Given the description of an element on the screen output the (x, y) to click on. 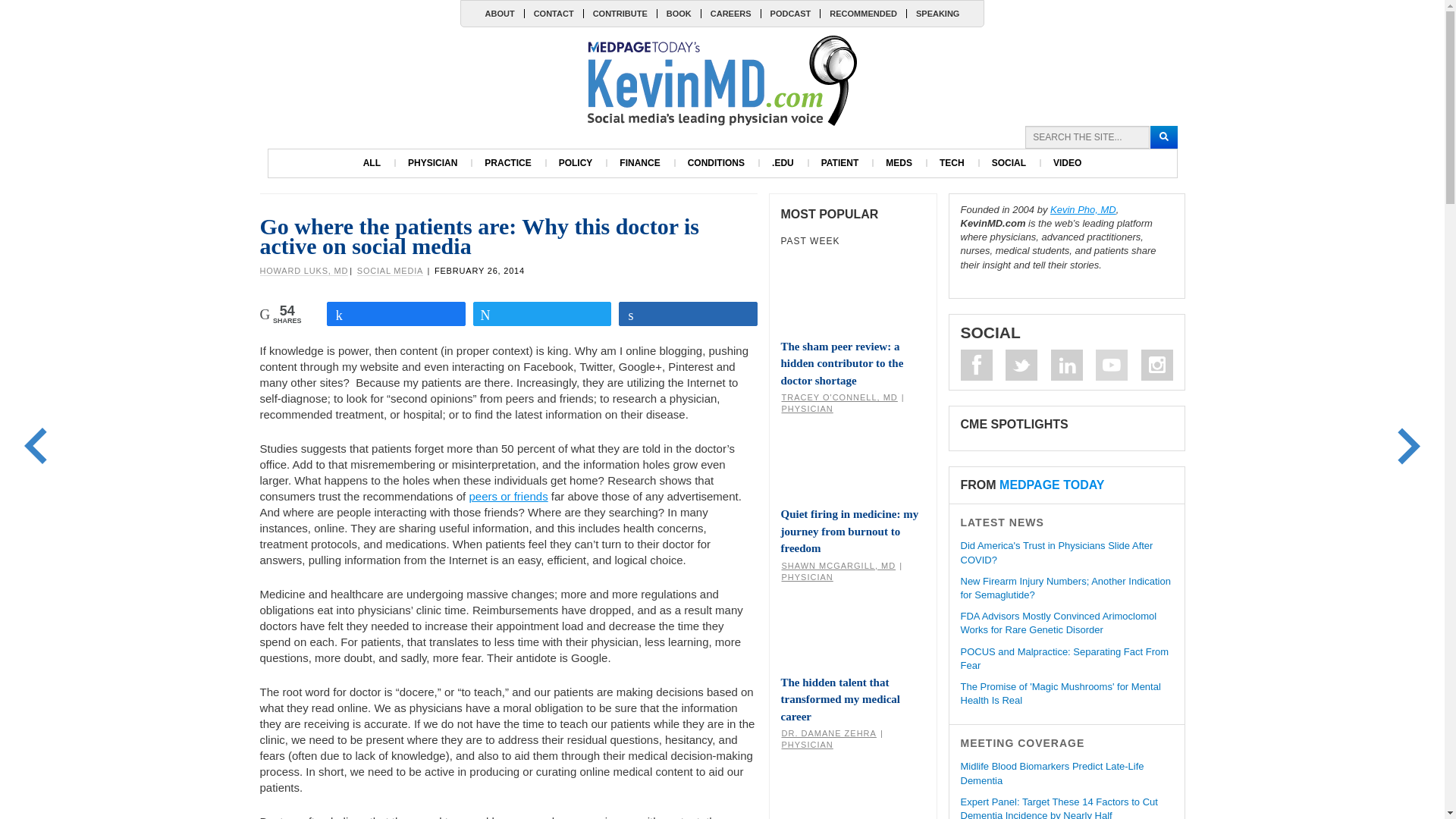
ABOUT (500, 13)
POLICY (575, 163)
CONTRIBUTE (619, 13)
CONTACT (553, 13)
PRACTICE (507, 163)
MEDS (899, 163)
FINANCE (638, 163)
PODCAST (790, 13)
ALL (371, 163)
PHYSICIAN (432, 163)
